Given the description of an element on the screen output the (x, y) to click on. 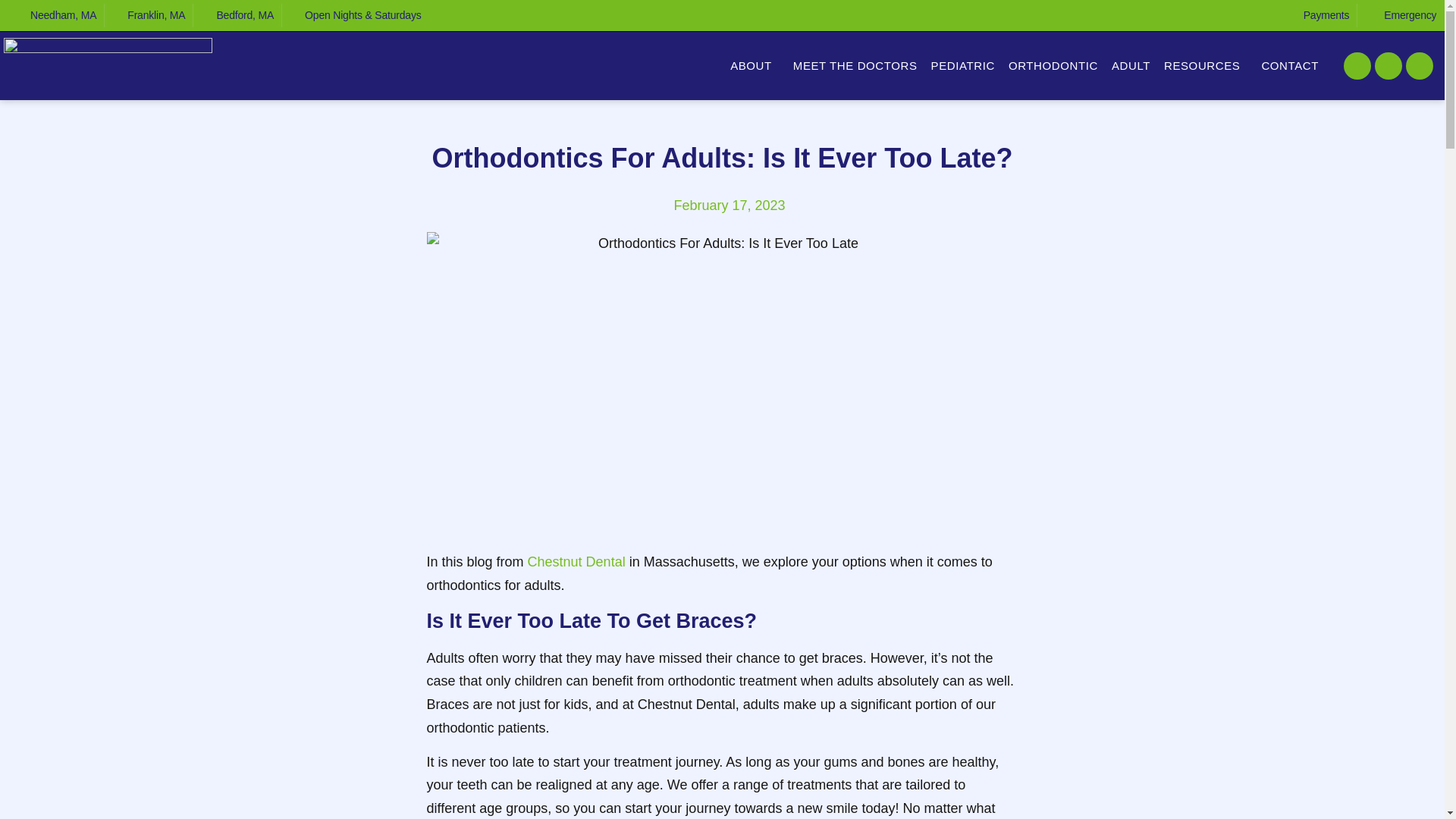
PEDIATRIC (962, 65)
ADULT (1130, 65)
ABOUT (754, 65)
RESOURCES (1205, 65)
Payments (1316, 15)
Franklin, MA (148, 15)
Needham, MA (55, 15)
ORTHODONTIC (1053, 65)
Emergency (1400, 15)
CONTACT (1293, 65)
Bedford, MA (236, 15)
MEET THE DOCTORS (855, 65)
